Given the description of an element on the screen output the (x, y) to click on. 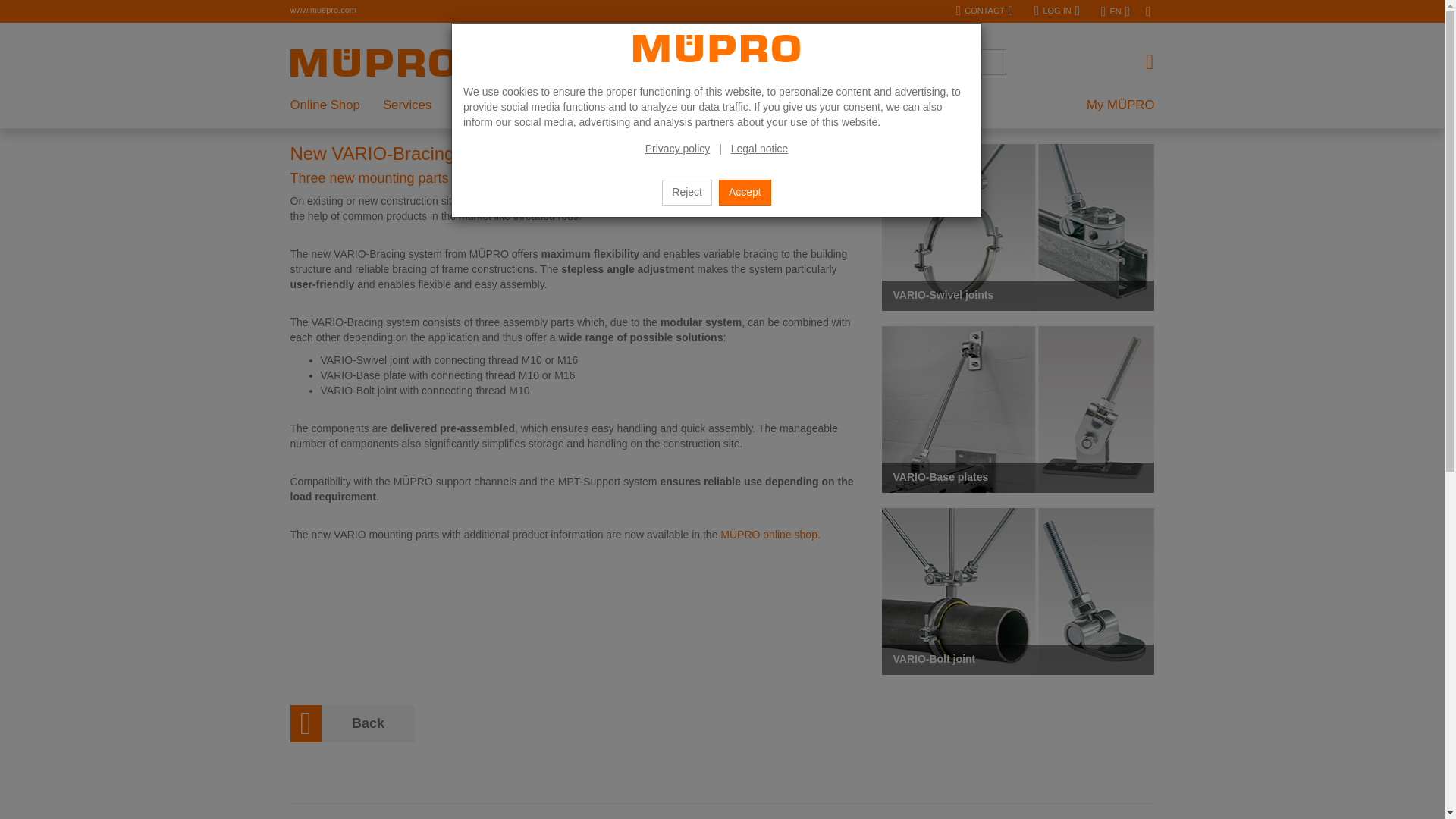
Online Shop (330, 104)
VARIO-Swivel joints (1017, 227)
Reject (686, 192)
Search (524, 62)
Accept (745, 192)
www.muepro.com (322, 8)
Privacy policy (677, 148)
CONTACT (984, 11)
VARIO-Base plates (1017, 409)
LOG IN (1057, 11)
EN (1115, 11)
Legal notice (759, 148)
